Given the description of an element on the screen output the (x, y) to click on. 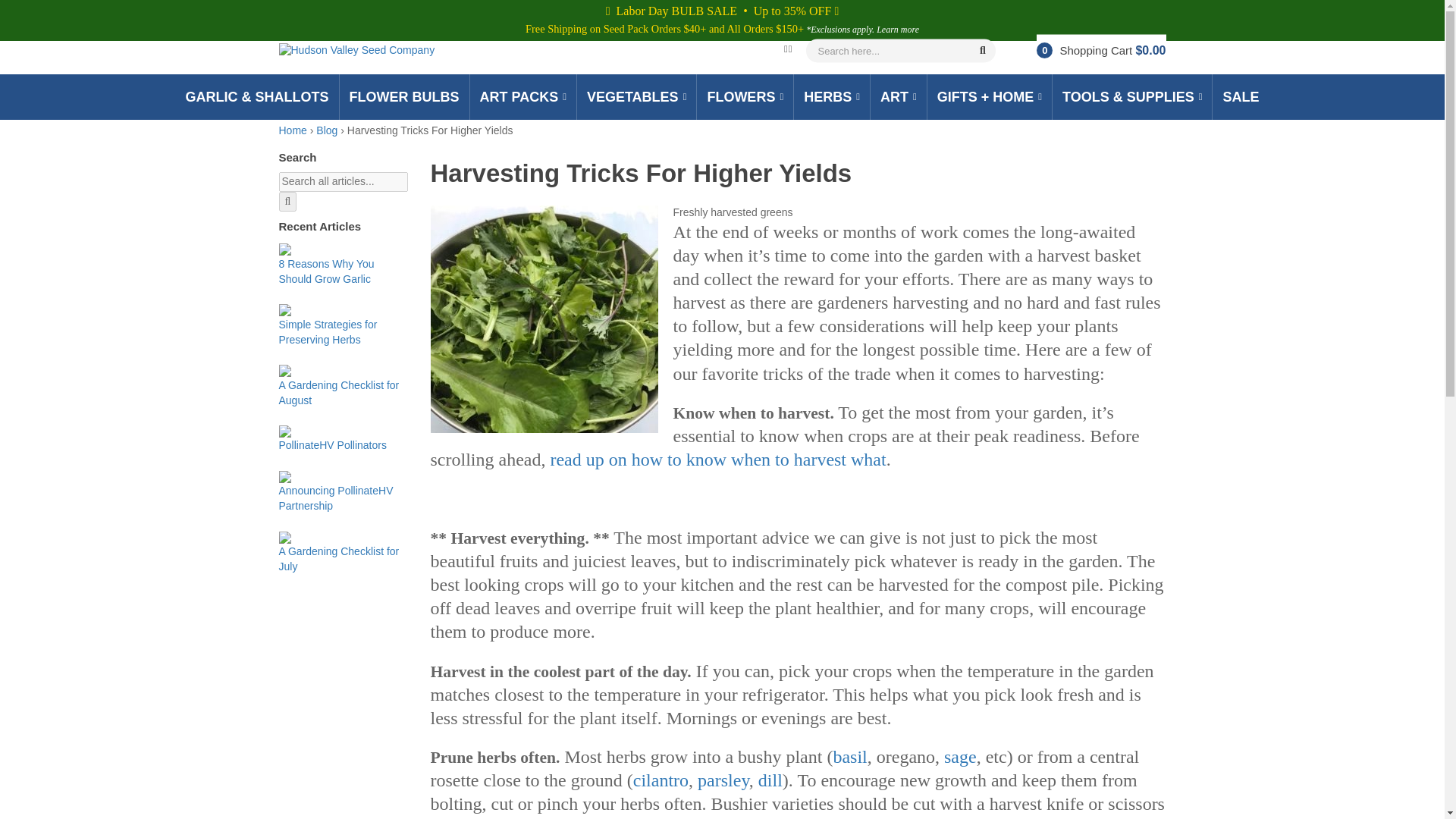
ART PACKS (522, 97)
Back to the frontpage (293, 130)
FLOWER BULBS (404, 97)
VEGETABLES (636, 97)
Learn more (897, 29)
